Given the description of an element on the screen output the (x, y) to click on. 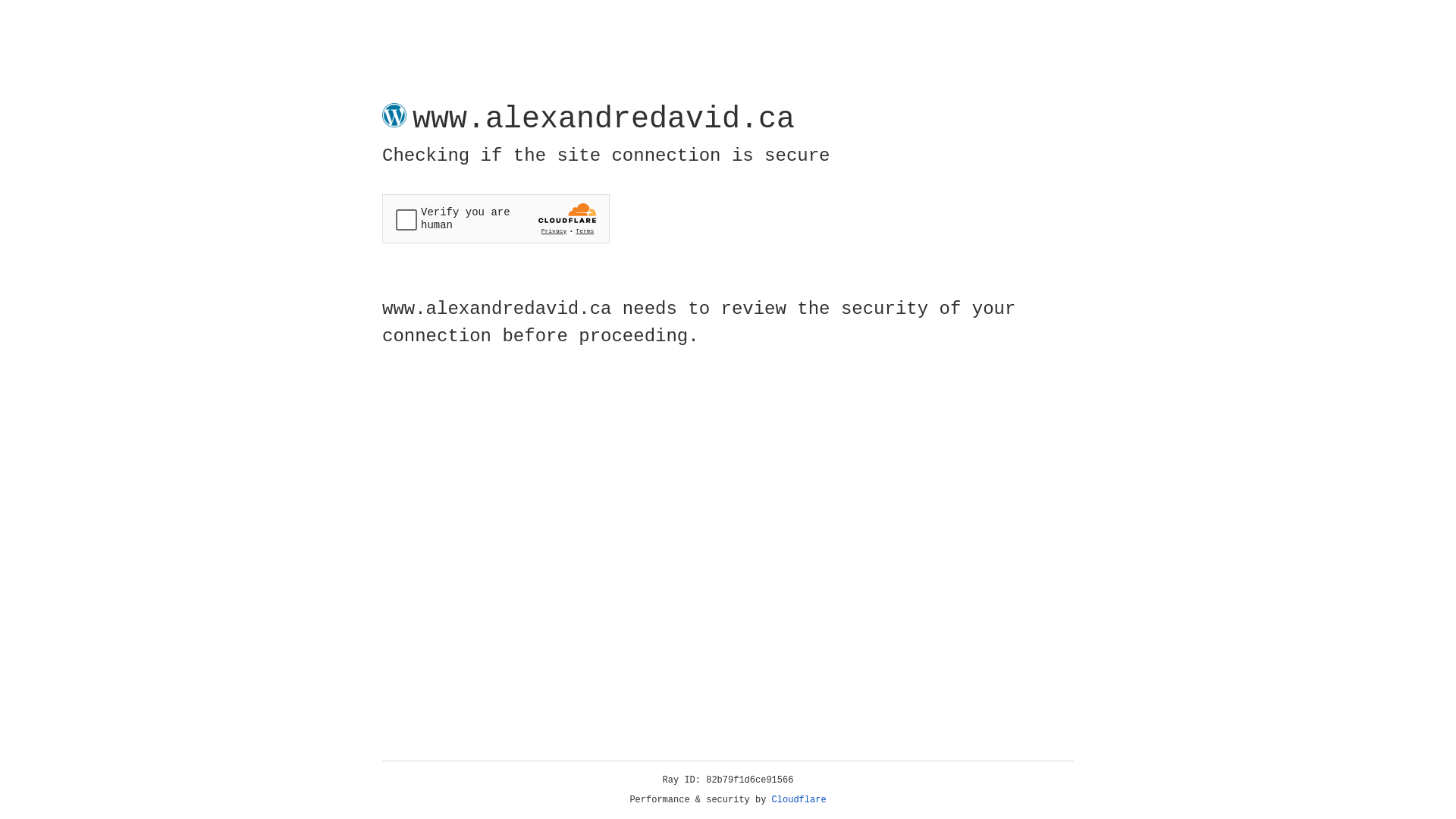
Cloudflare Element type: text (798, 799)
Widget containing a Cloudflare security challenge Element type: hover (495, 218)
